Given the description of an element on the screen output the (x, y) to click on. 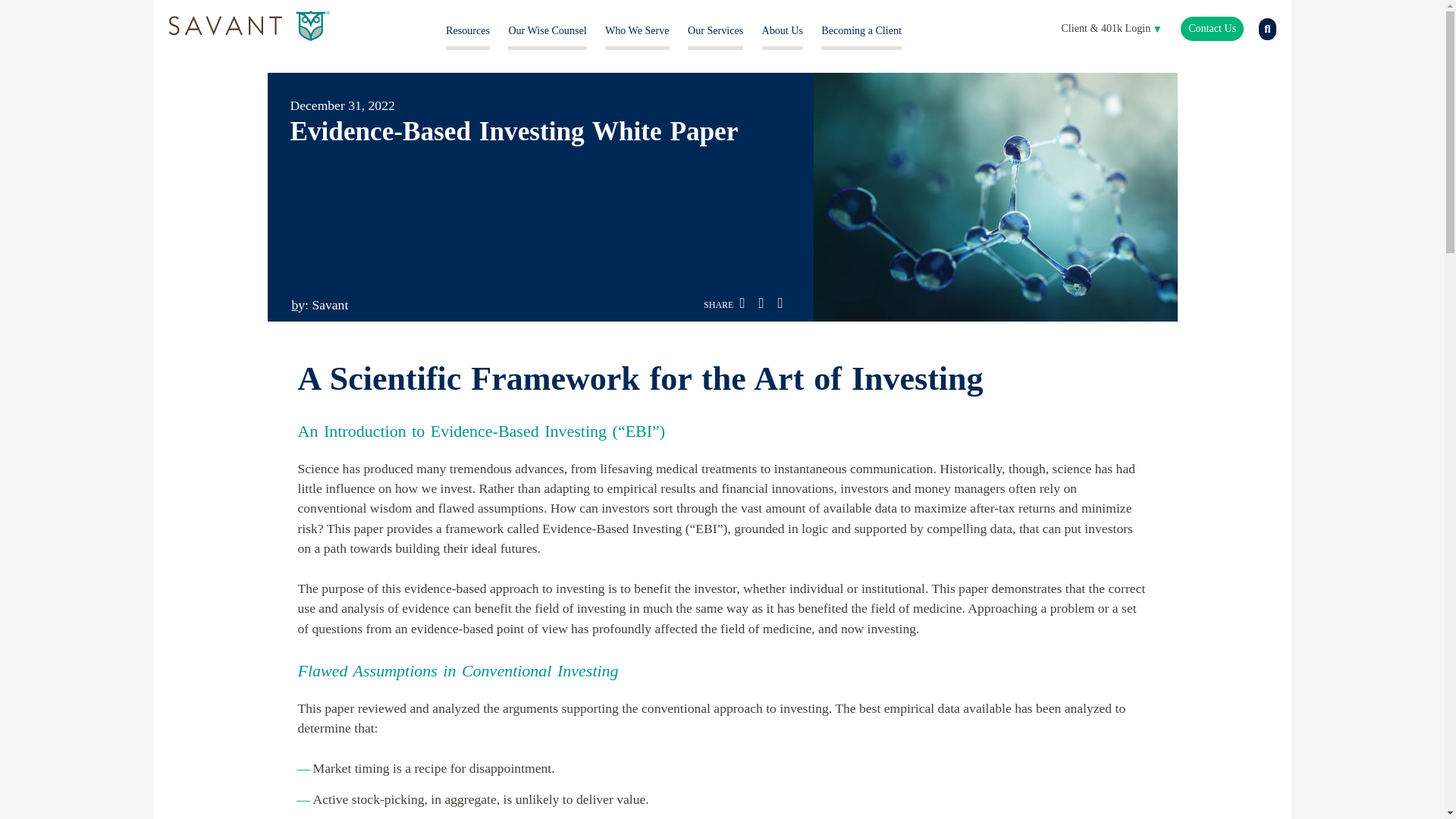
Our Wise Counsel (547, 30)
Resources (467, 30)
Our Services (714, 30)
Who We Serve (637, 30)
About Us (782, 30)
